Given the description of an element on the screen output the (x, y) to click on. 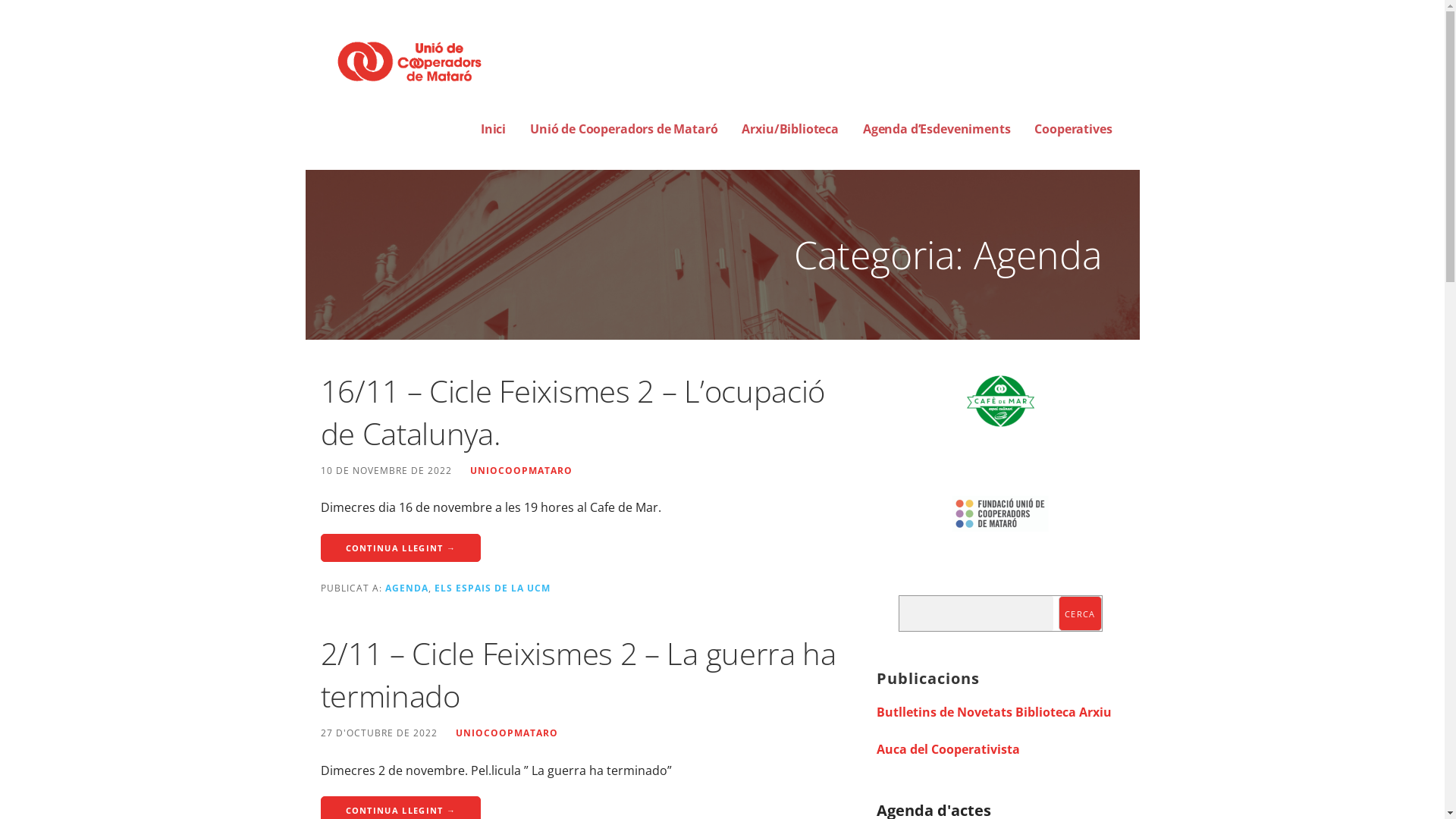
Arxiu/Biblioteca Element type: text (789, 129)
ELS ESPAIS DE LA UCM Element type: text (491, 587)
Auca del Cooperativista Element type: text (947, 748)
UNIOCOOPMATARO Element type: text (521, 470)
AGENDA Element type: text (406, 587)
CERCA Element type: text (1079, 613)
Inici Element type: text (492, 129)
UNIOCOOPMATARO Element type: text (506, 732)
Cooperatives Element type: text (1072, 129)
Butlletins de Novetats Biblioteca Arxiu Element type: text (993, 711)
